Given the description of an element on the screen output the (x, y) to click on. 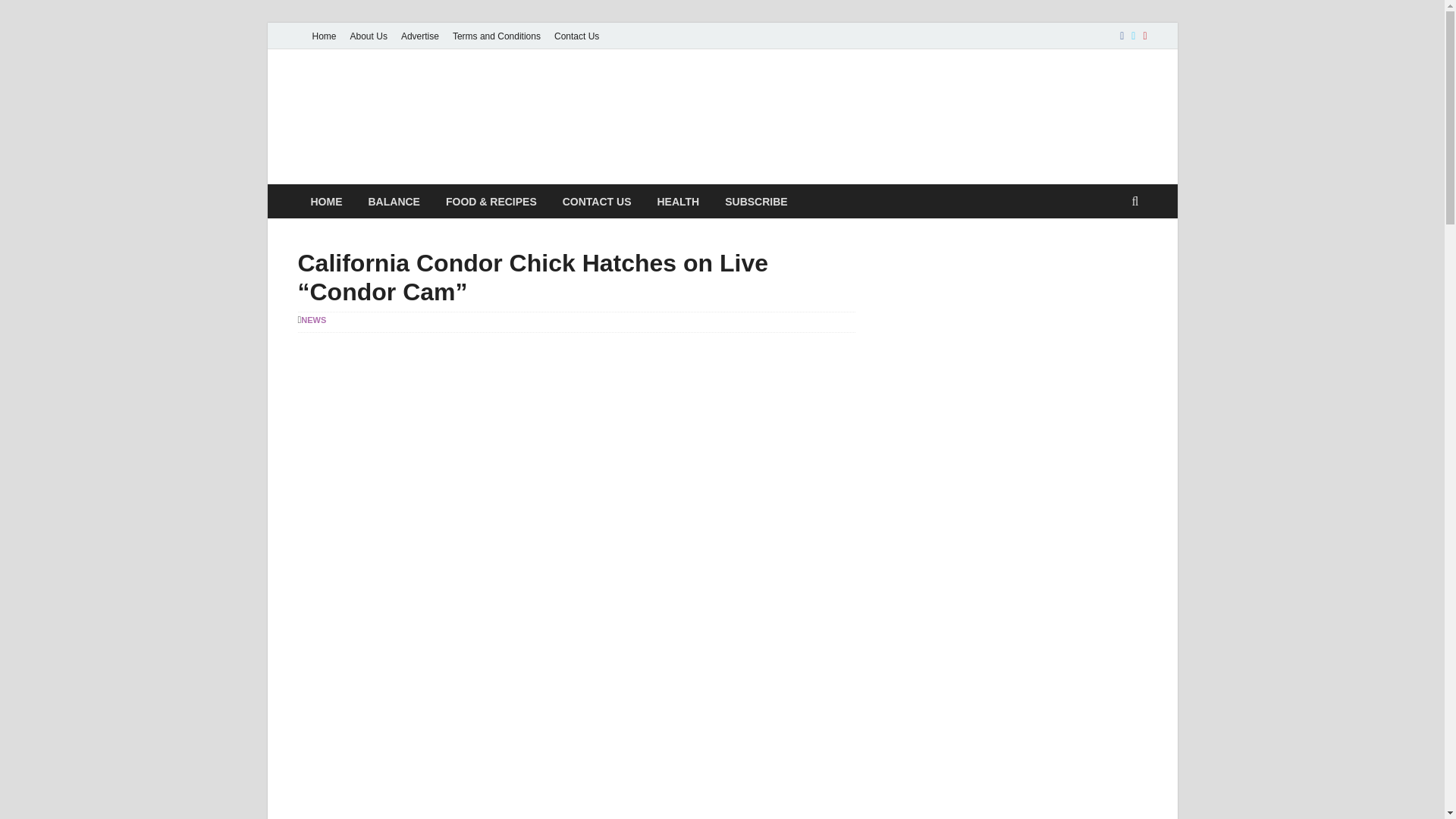
About Us (368, 35)
HOME (326, 201)
SUBSCRIBE (755, 201)
Home (323, 35)
NEWS (313, 319)
Terms and Conditions (496, 35)
BALANCE (393, 201)
Advertise (419, 35)
CONTACT US (597, 201)
Contact Us (576, 35)
